Given the description of an element on the screen output the (x, y) to click on. 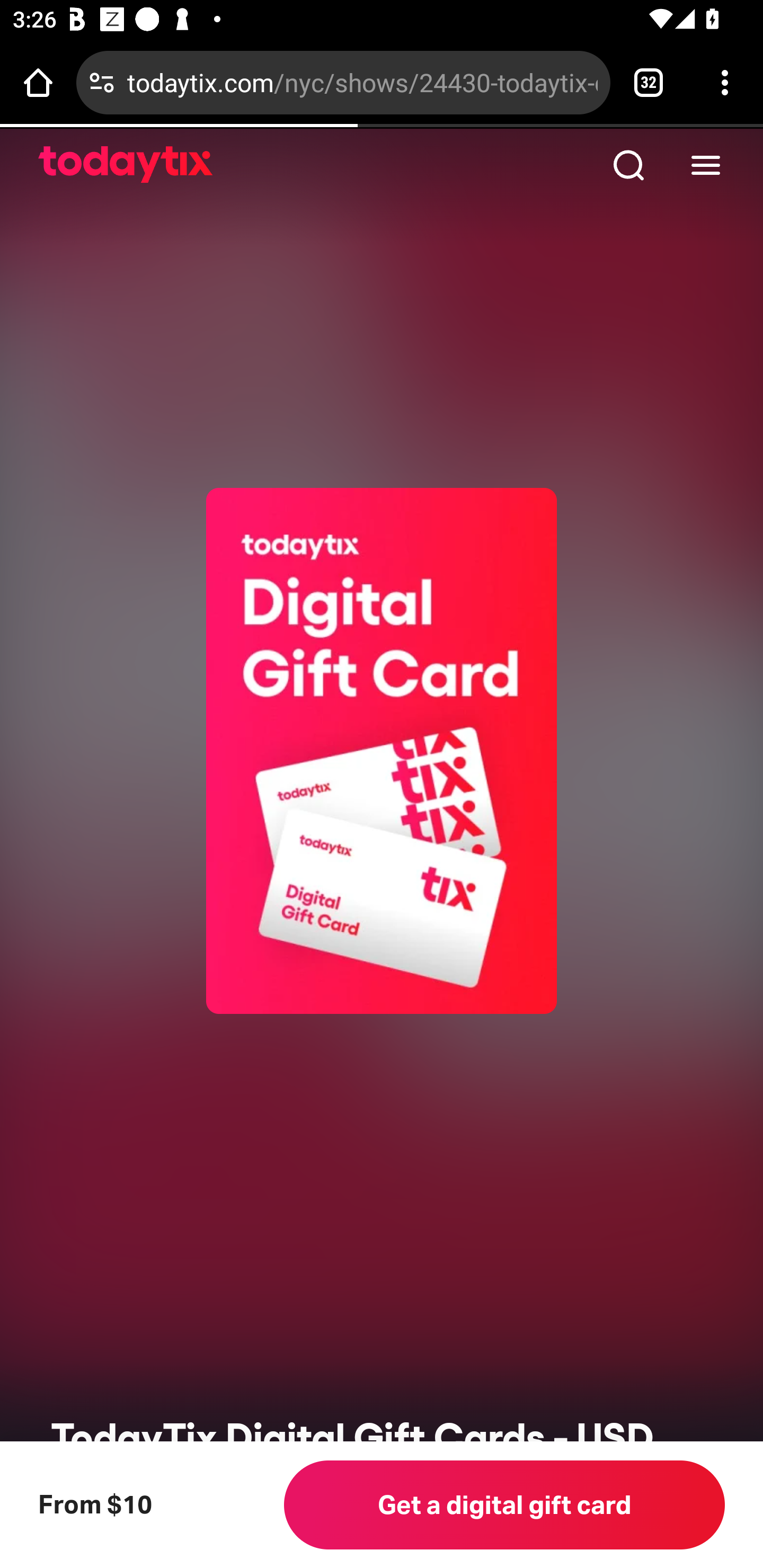
Open the home page (38, 82)
Connection is secure (101, 82)
Switch or close tabs (648, 82)
Customize and control Google Chrome (724, 82)
TodayTix Logo (126, 165)
Get a digital gift card (503, 1504)
